Given the description of an element on the screen output the (x, y) to click on. 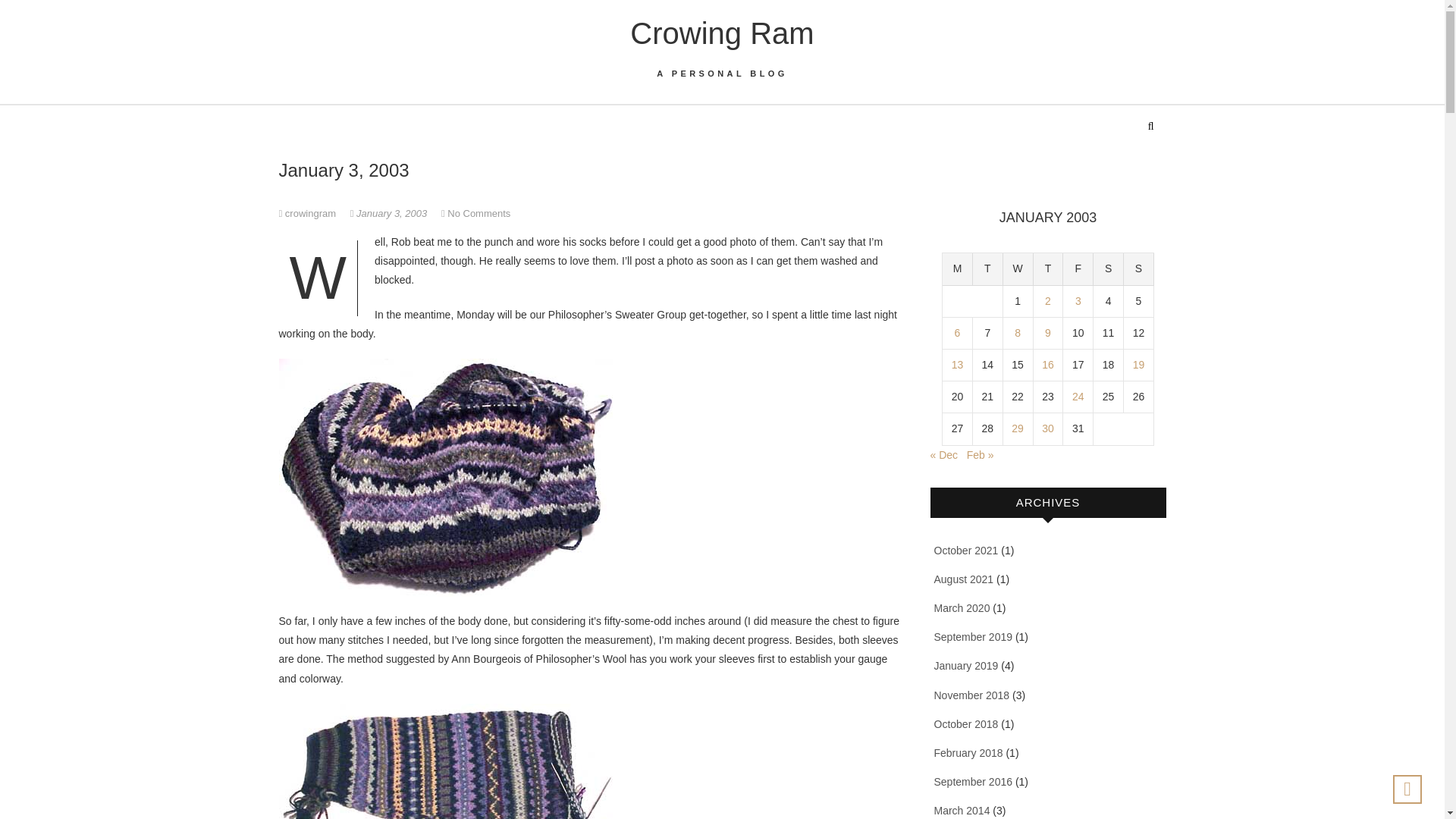
Friday (1077, 269)
March 2020 (962, 607)
September 2019 (973, 636)
November 2018 (972, 695)
24 (1077, 396)
No Comments (478, 213)
16 (1048, 364)
Thursday (1048, 269)
29 (1017, 428)
Go to Top (1407, 788)
